Given the description of an element on the screen output the (x, y) to click on. 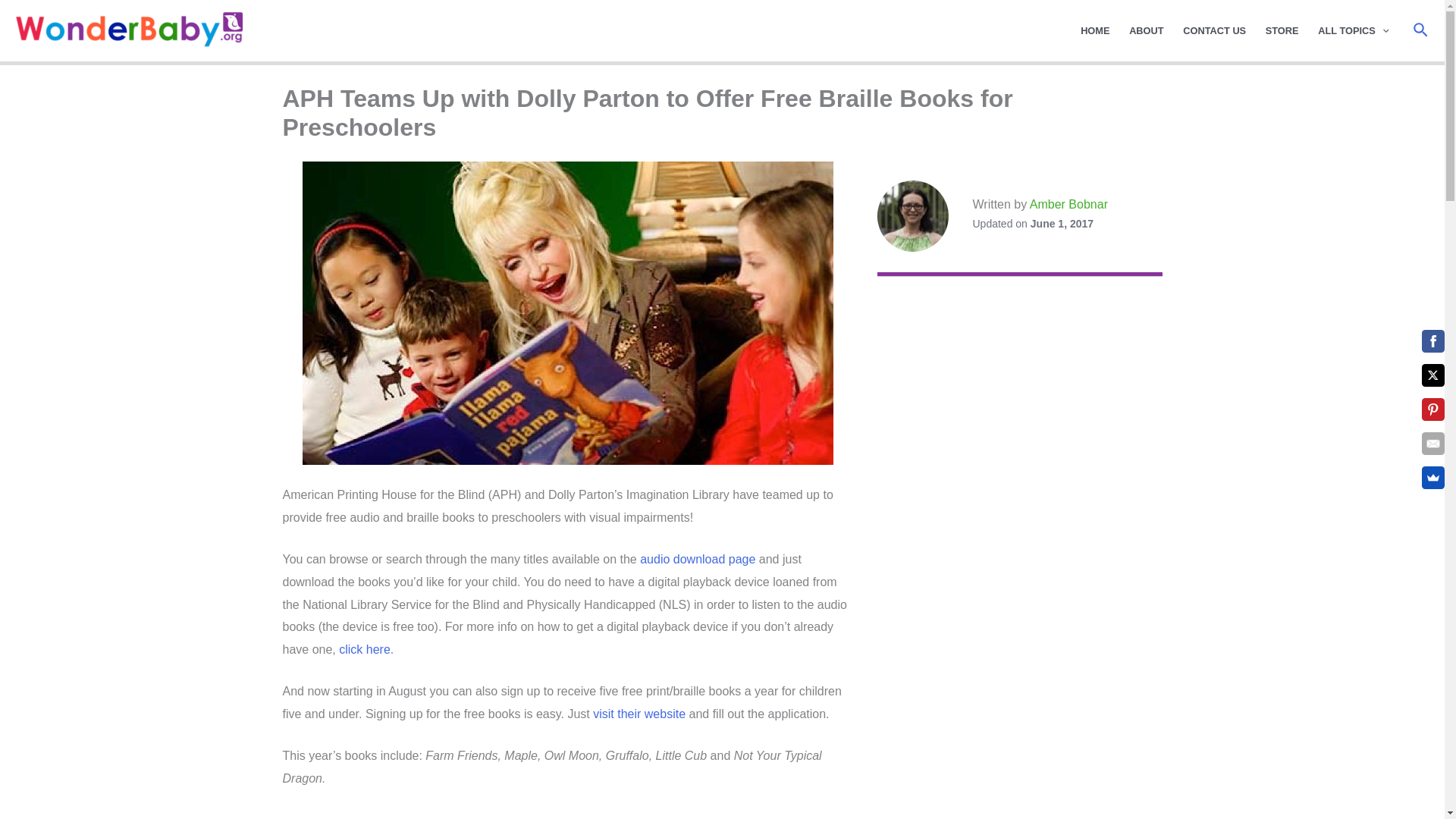
CONTACT US (1214, 30)
HOME (1094, 30)
ALL TOPICS (1352, 30)
STORE (1281, 30)
ABOUT (1146, 30)
